Given the description of an element on the screen output the (x, y) to click on. 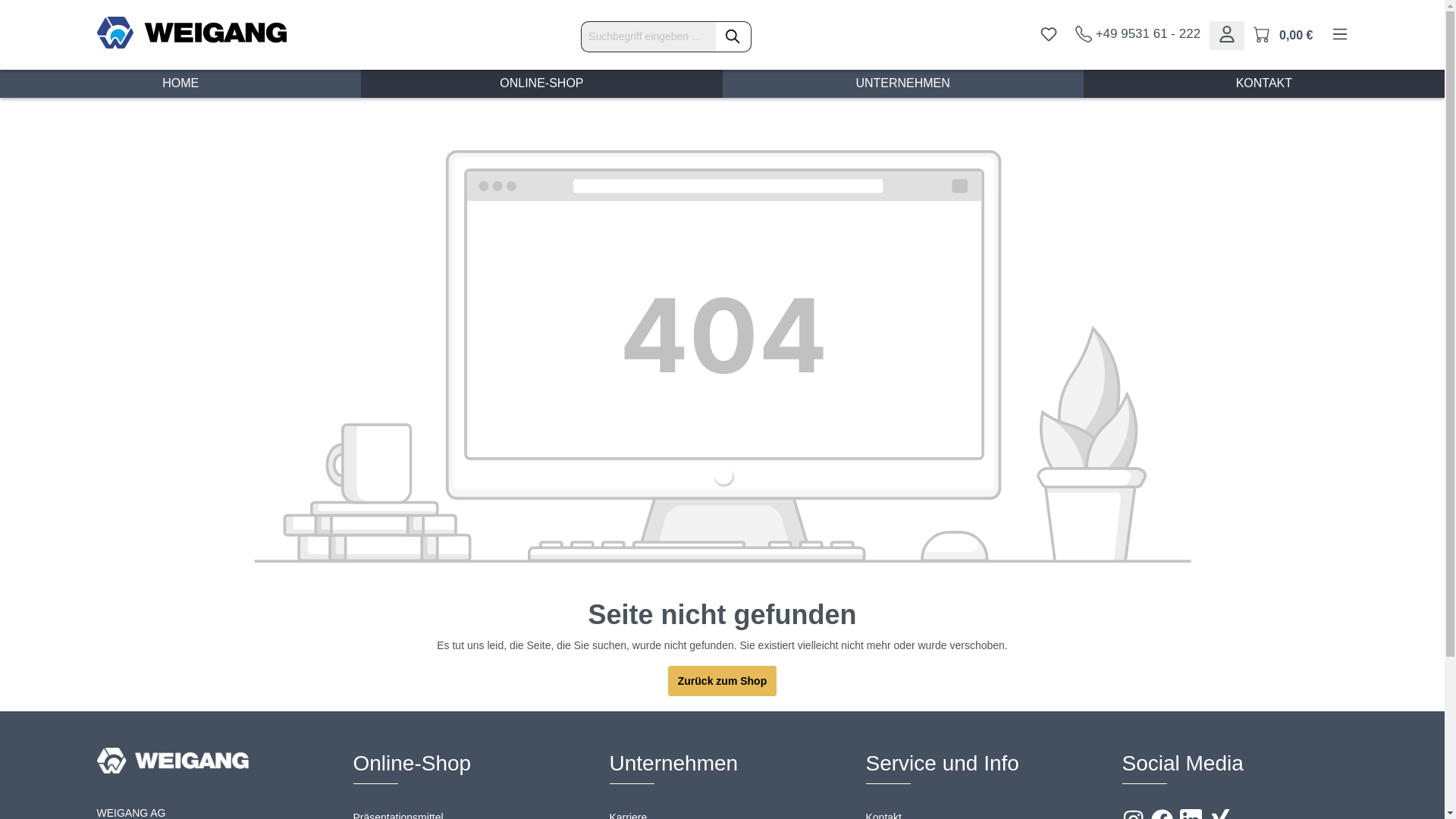
Menu (1335, 35)
Merkzettel (1047, 35)
Home (180, 83)
Ihr Konto (1226, 35)
Warenkorb (1283, 35)
Online-Shop (541, 83)
UNTERNEHMEN (902, 83)
ONLINE-SHOP (541, 83)
Unternehmen (902, 83)
Zur Startseite gehen (191, 32)
